Given the description of an element on the screen output the (x, y) to click on. 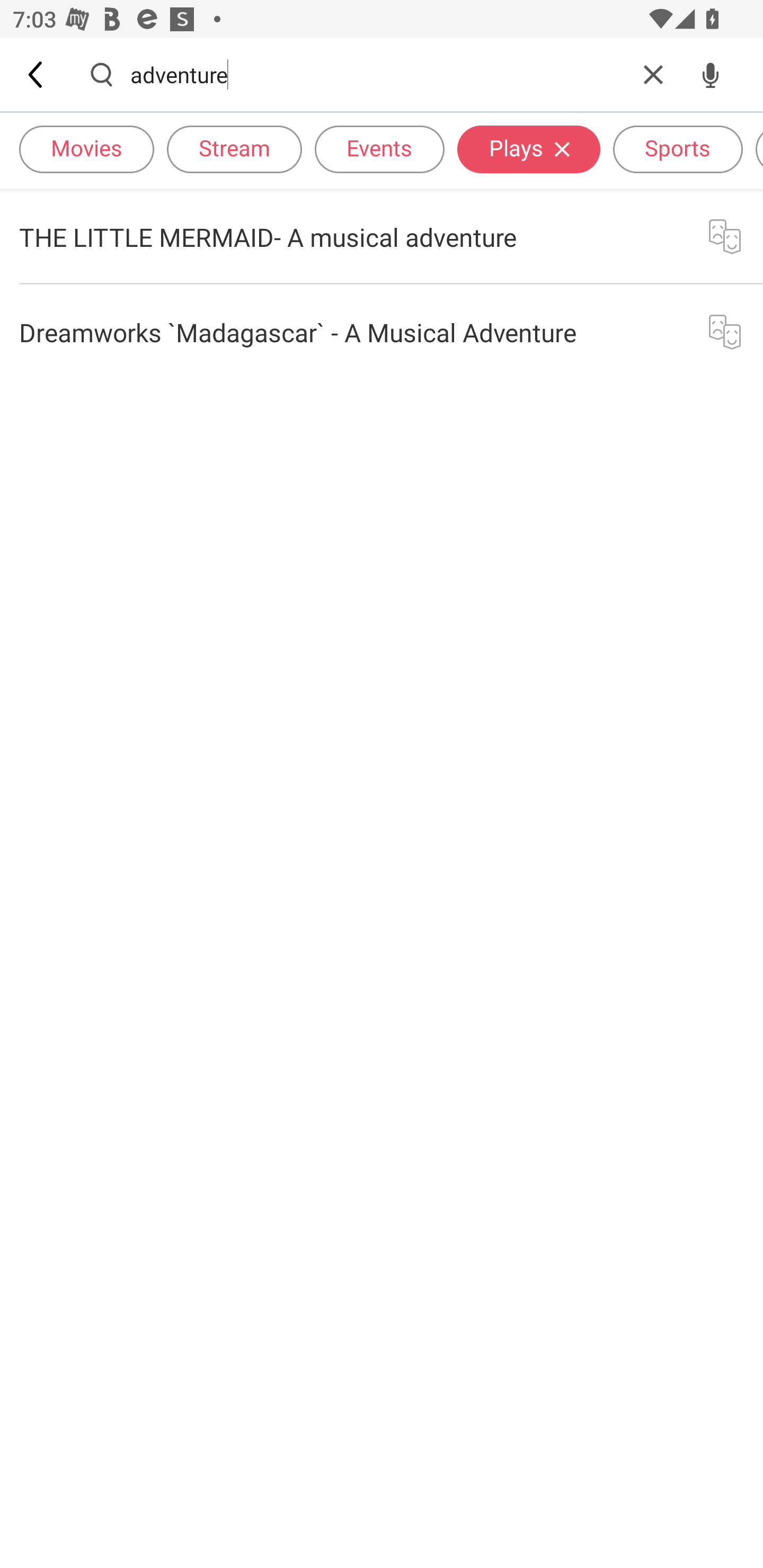
Back (36, 74)
adventure (377, 74)
Clear (653, 74)
Movies (86, 148)
Stream (234, 148)
Events (379, 148)
Plays Clear (528, 148)
Sports (677, 148)
THE LITTLE MERMAID- A musical adventure (381, 236)
Dreamworks `Madagascar` - A Musical Adventure (381, 331)
